Given the description of an element on the screen output the (x, y) to click on. 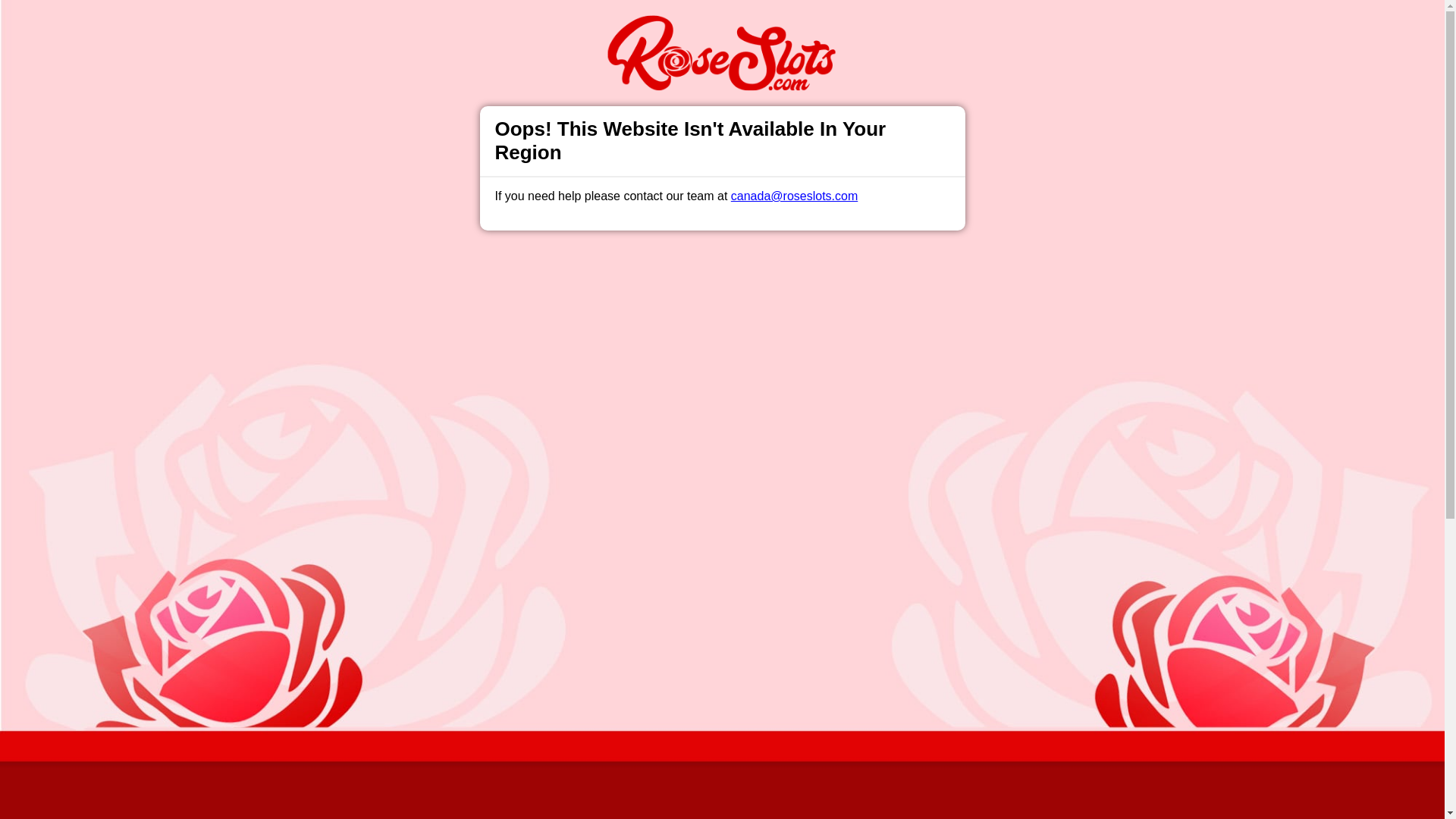
Cookie Policy (800, 799)
All Games (640, 26)
Join Now (1054, 26)
Pirate Gold Deluxe play now (722, 207)
Trophies (497, 26)
Play Now (748, 269)
Login (963, 26)
Promotions (565, 26)
Join Now (694, 269)
